Given the description of an element on the screen output the (x, y) to click on. 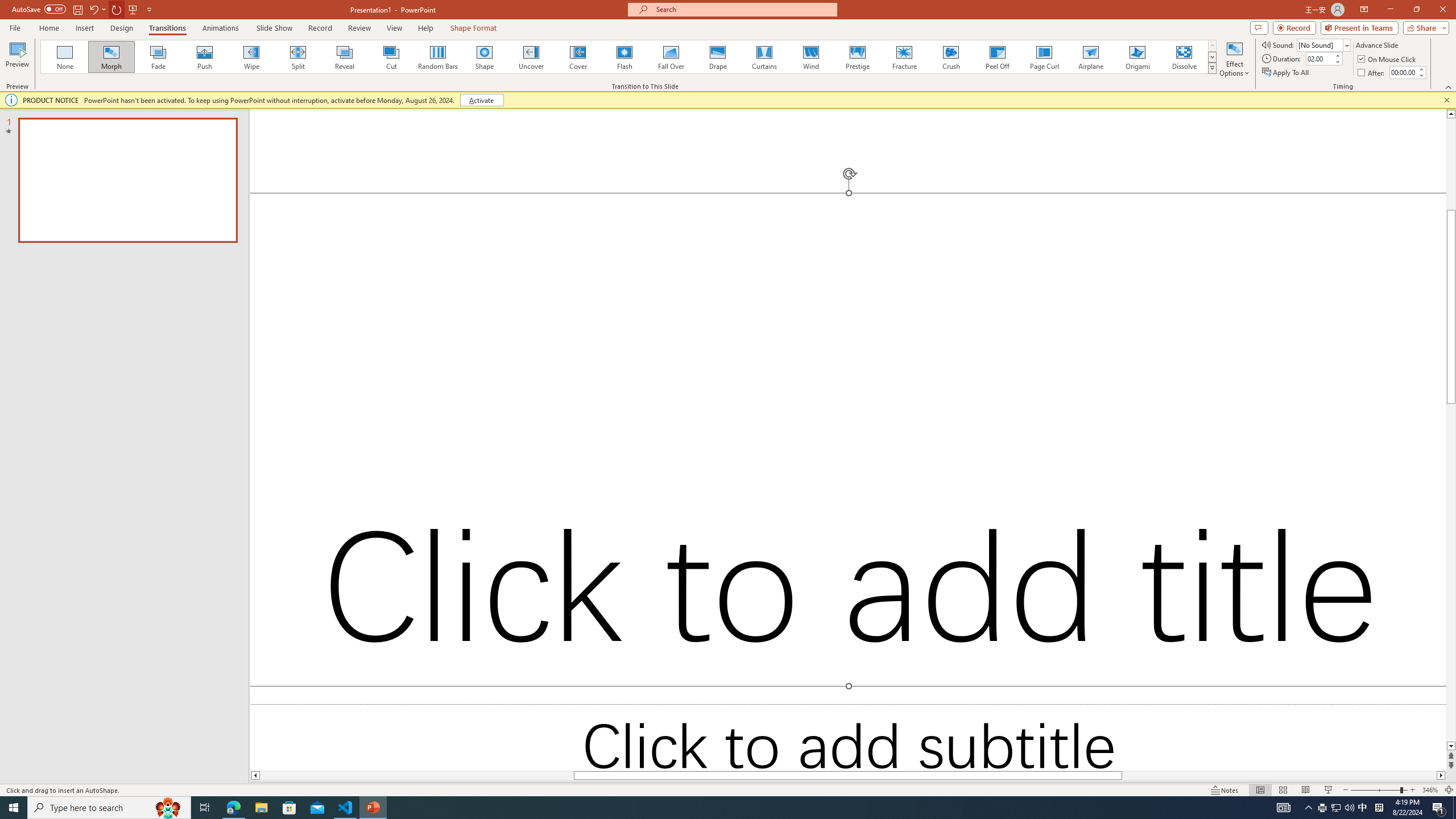
Page Curl (1043, 56)
AutomationID: AnimationTransitionGallery (628, 56)
Wipe (251, 56)
Transition Effects (1212, 67)
Fracture (903, 56)
Random Bars (437, 56)
Shape (484, 56)
Sound (1324, 44)
Cut (391, 56)
